Given the description of an element on the screen output the (x, y) to click on. 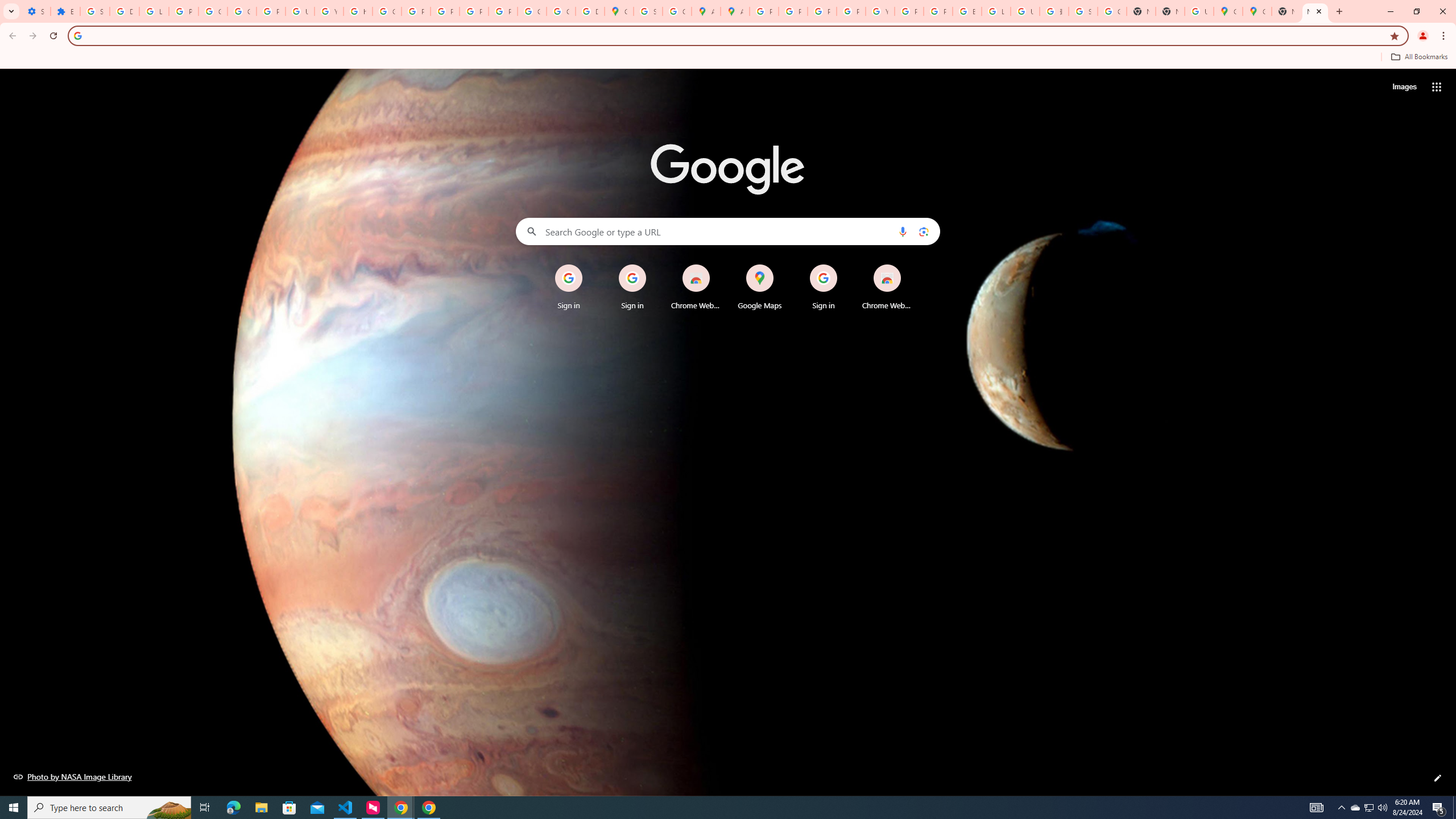
Browse Chrome as a guest - Computer - Google Chrome Help (967, 11)
Use Google Maps in Space - Google Maps Help (1198, 11)
Google Maps (619, 11)
Sign in (824, 287)
Privacy Help Center - Policies Help (792, 11)
Settings - On startup (35, 11)
New Tab (1169, 11)
Google Account Help (212, 11)
